Given the description of an element on the screen output the (x, y) to click on. 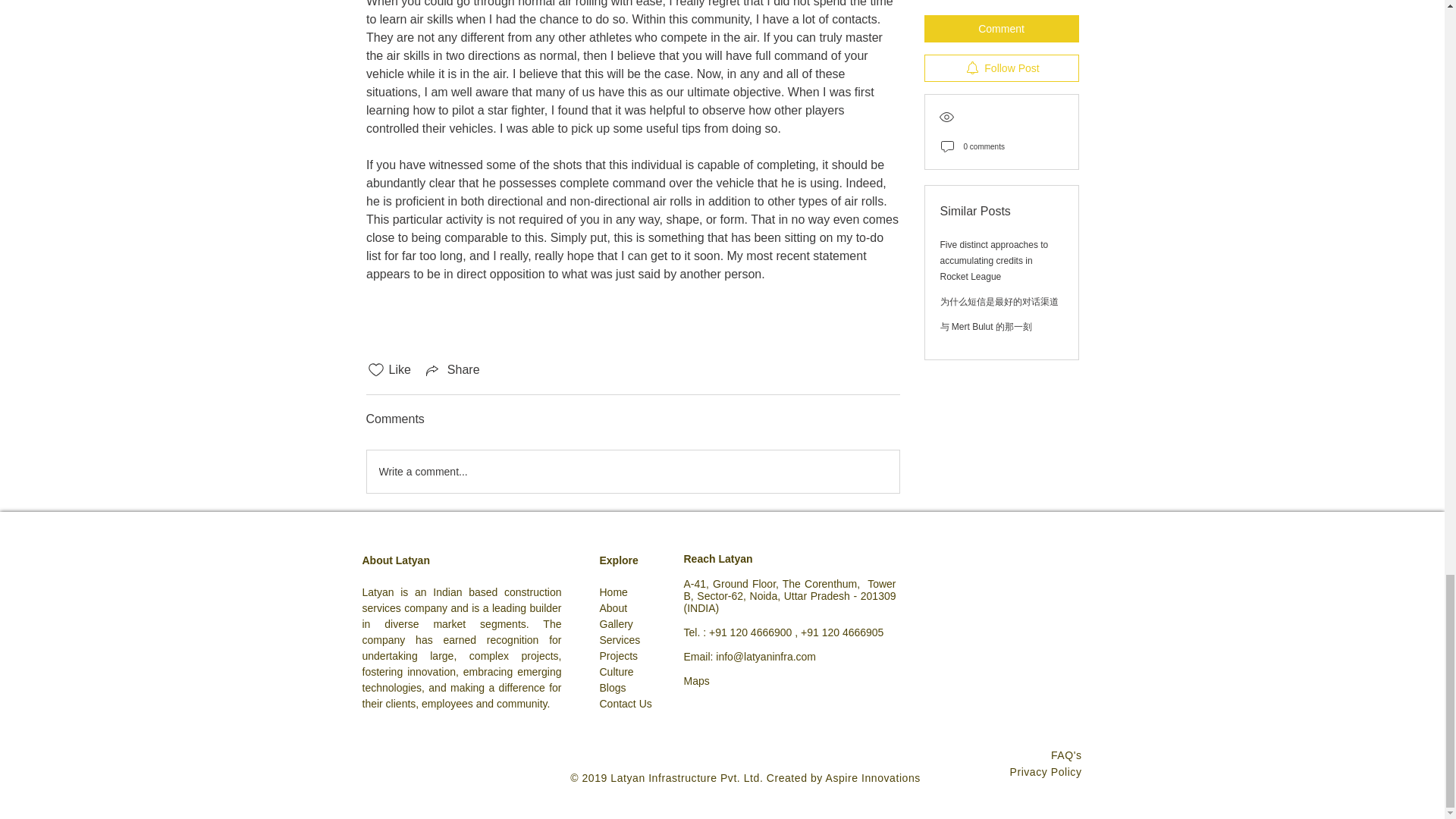
Write a comment... (632, 471)
Share (451, 370)
